Given the description of an element on the screen output the (x, y) to click on. 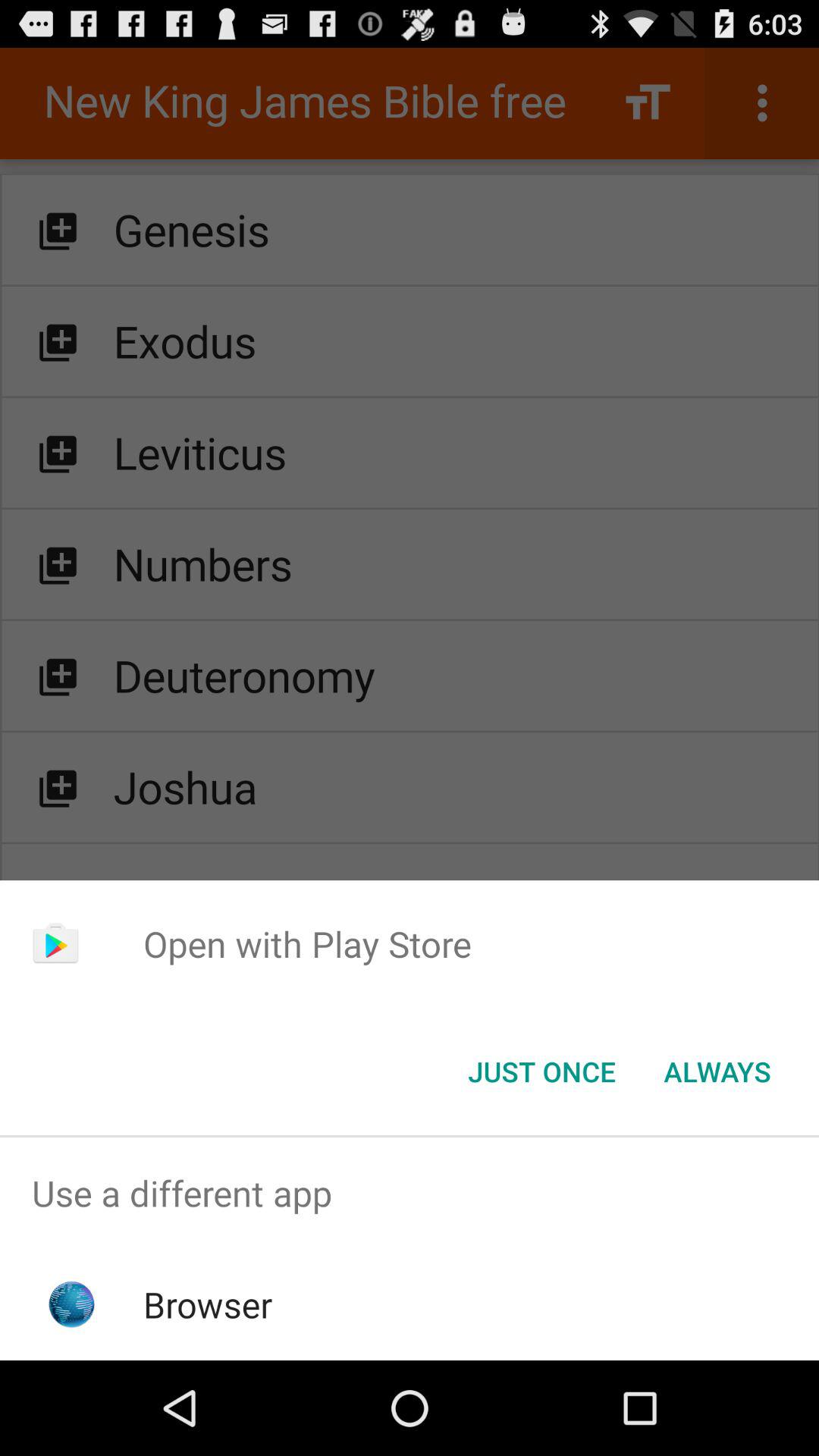
select button to the right of just once (717, 1071)
